Given the description of an element on the screen output the (x, y) to click on. 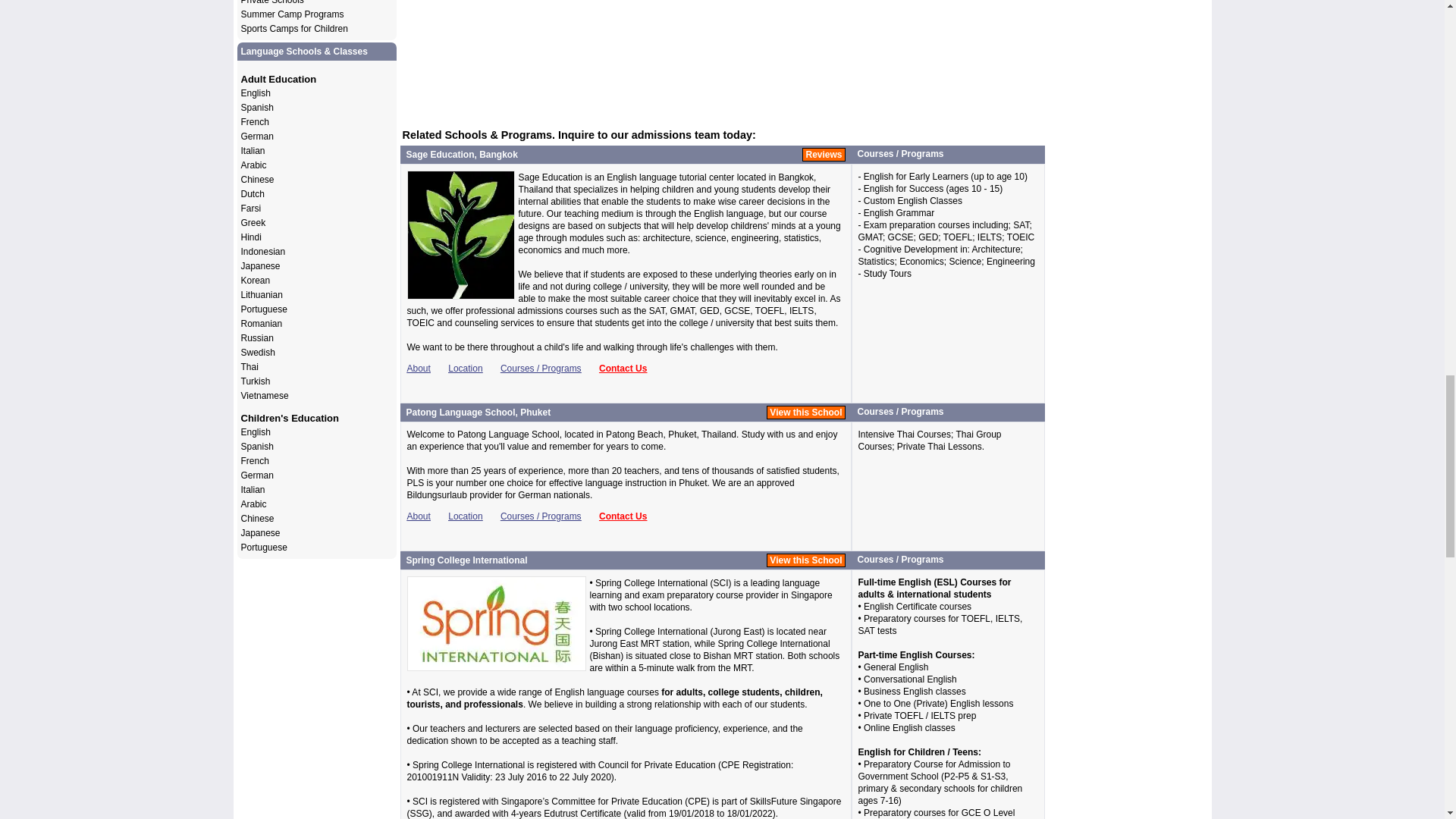
Advertisement (721, 38)
Reviews (823, 154)
